Given the description of an element on the screen output the (x, y) to click on. 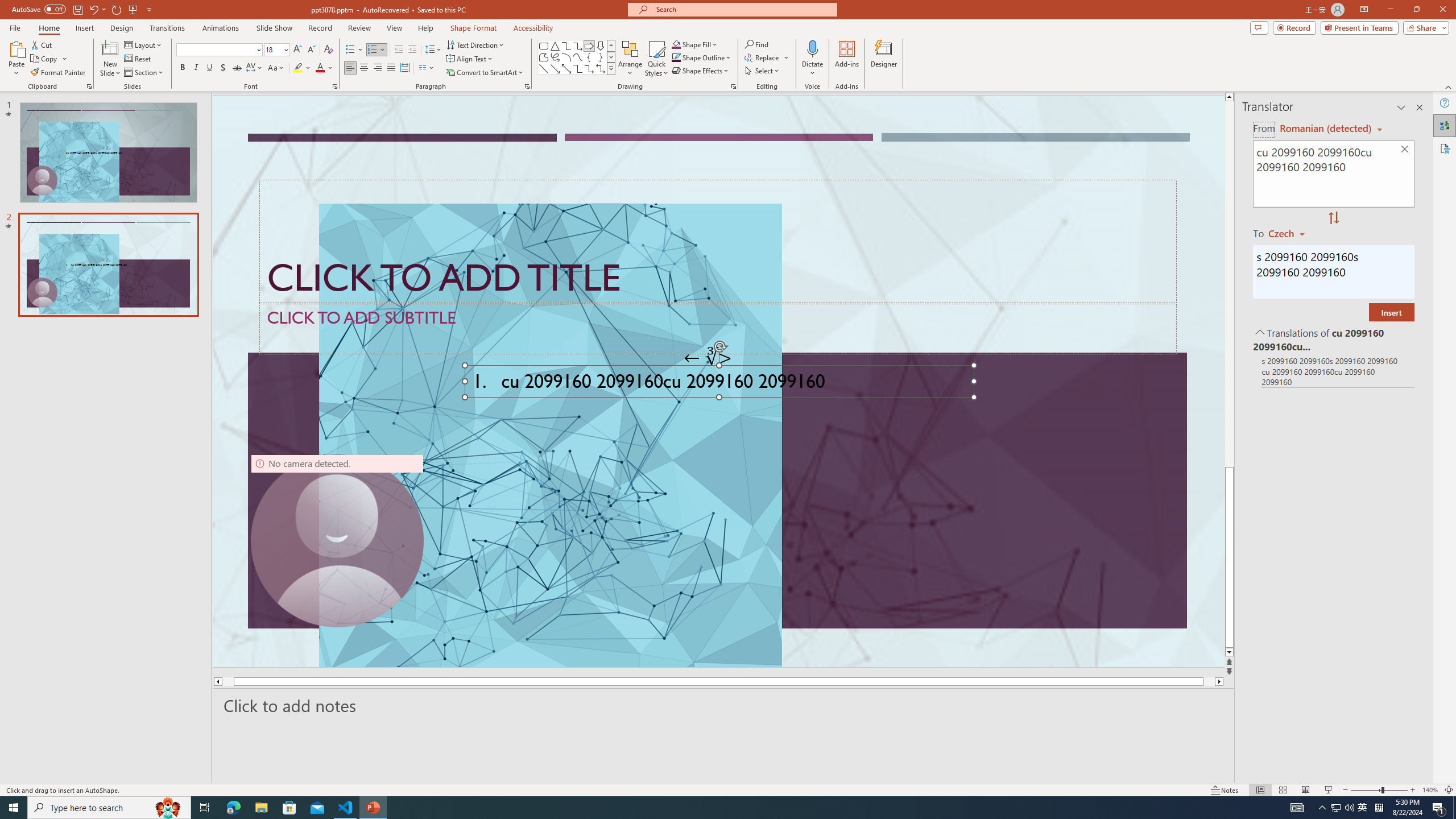
Czech (1291, 232)
Zoom 140% (1430, 790)
Connector: Elbow Double-Arrow (600, 68)
Czech (detected) (1323, 128)
